Given the description of an element on the screen output the (x, y) to click on. 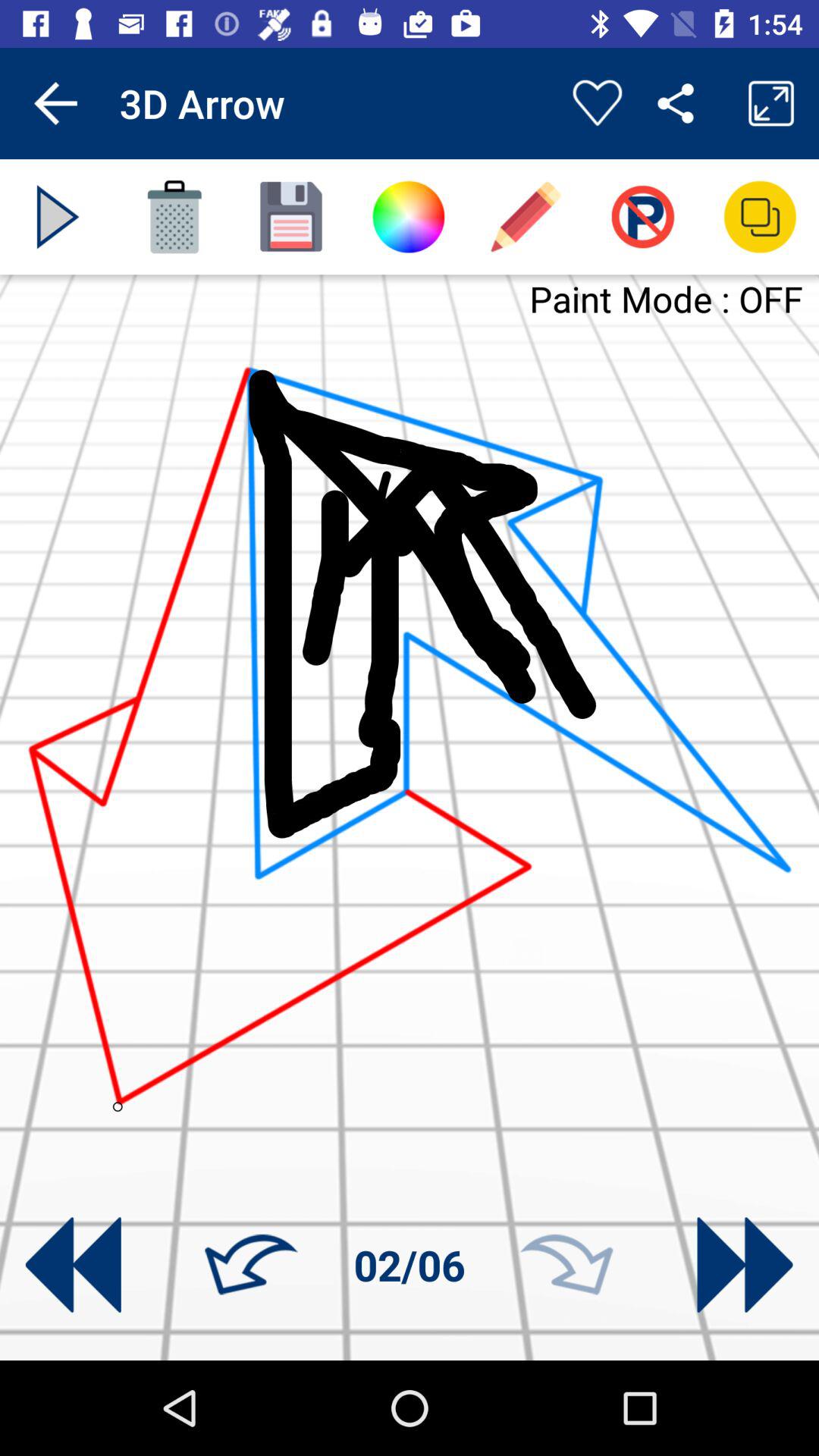
go to next (58, 216)
